Given the description of an element on the screen output the (x, y) to click on. 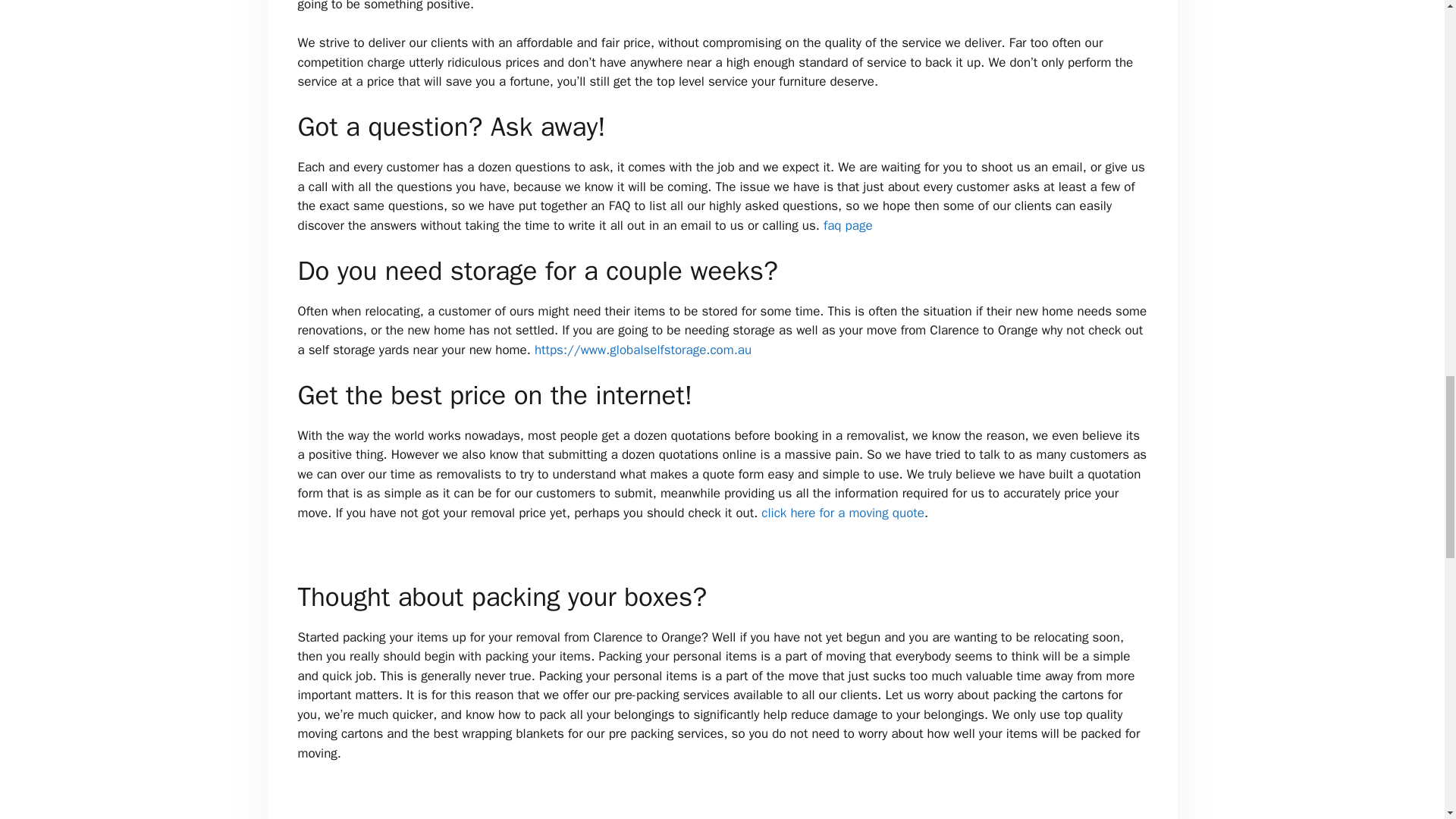
faq page (848, 225)
click here for a moving quote (842, 512)
Self Storage (642, 349)
